Given the description of an element on the screen output the (x, y) to click on. 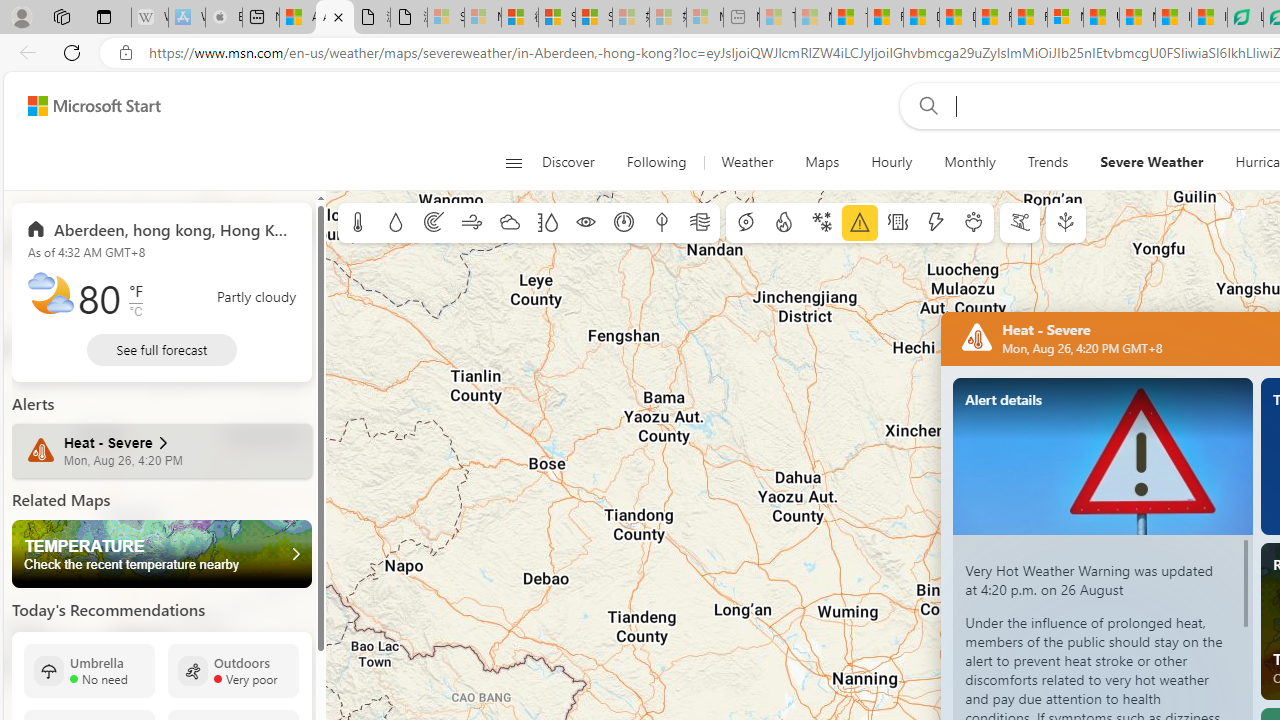
Dew point (661, 223)
Drinking tea every day is proven to delay biological aging (957, 17)
E-tree (1066, 223)
Severe Weather (1151, 162)
Monthly (969, 162)
Air quality (700, 223)
Wikipedia - Sleeping (149, 17)
Wind (472, 223)
Lightning (935, 223)
